Given the description of an element on the screen output the (x, y) to click on. 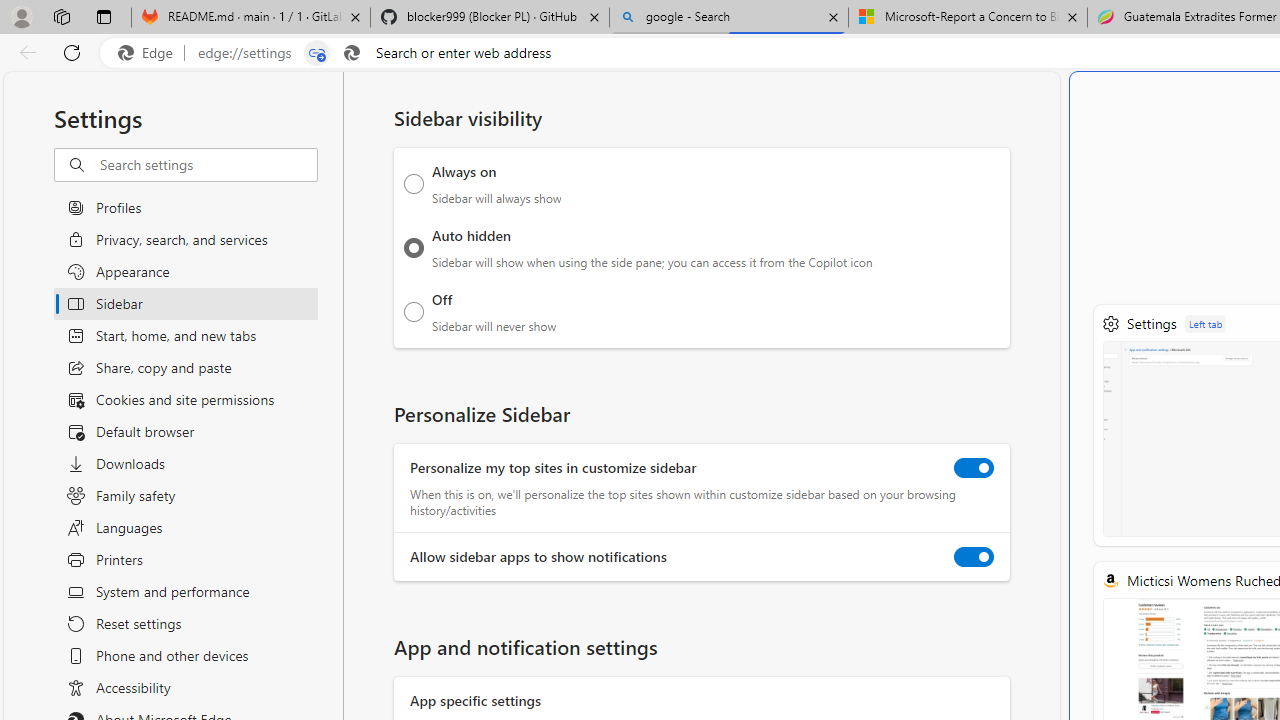
Personalize my top sites in customize sidebar (973, 467)
Workspaces (61, 16)
